Given the description of an element on the screen output the (x, y) to click on. 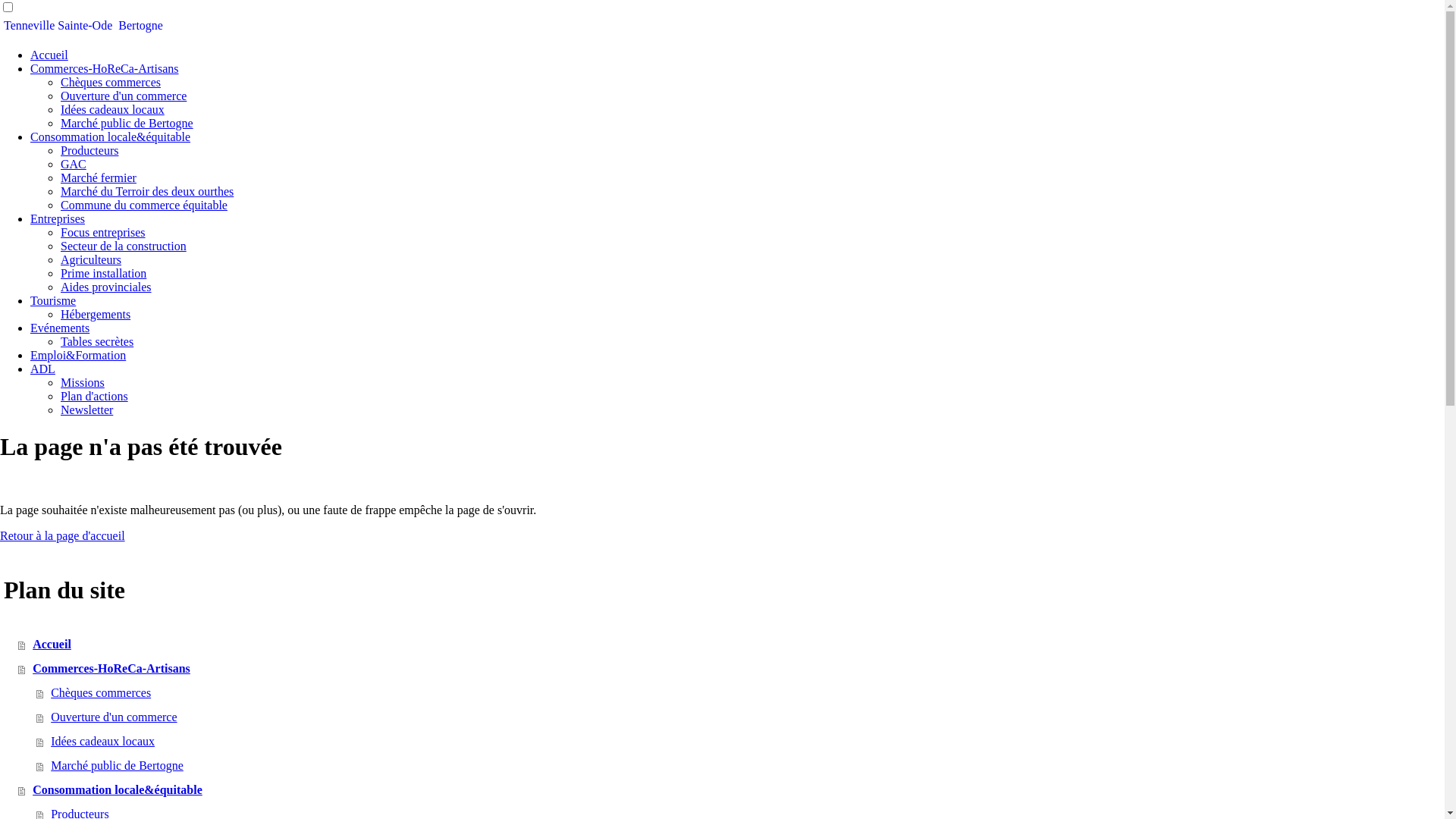
ADL Element type: text (42, 368)
Tenneville Sainte-Ode  Bertogne Element type: text (721, 25)
Commerces-HoReCa-Artisans Element type: text (731, 668)
Entreprises Element type: text (57, 218)
Commerces-HoReCa-Artisans Element type: text (104, 68)
Accueil Element type: text (49, 54)
Secteur de la construction Element type: text (123, 245)
GAC Element type: text (73, 163)
Aides provinciales Element type: text (105, 286)
Accueil Element type: text (731, 644)
Ouverture d'un commerce Element type: text (123, 95)
Agriculteurs Element type: text (90, 259)
Newsletter Element type: text (86, 409)
Plan d'actions Element type: text (94, 395)
Missions Element type: text (82, 382)
Ouverture d'un commerce Element type: text (740, 717)
Focus entreprises Element type: text (102, 231)
Prime installation Element type: text (103, 272)
Tourisme Element type: text (52, 300)
Emploi&Formation Element type: text (77, 354)
Producteurs Element type: text (89, 150)
